Given the description of an element on the screen output the (x, y) to click on. 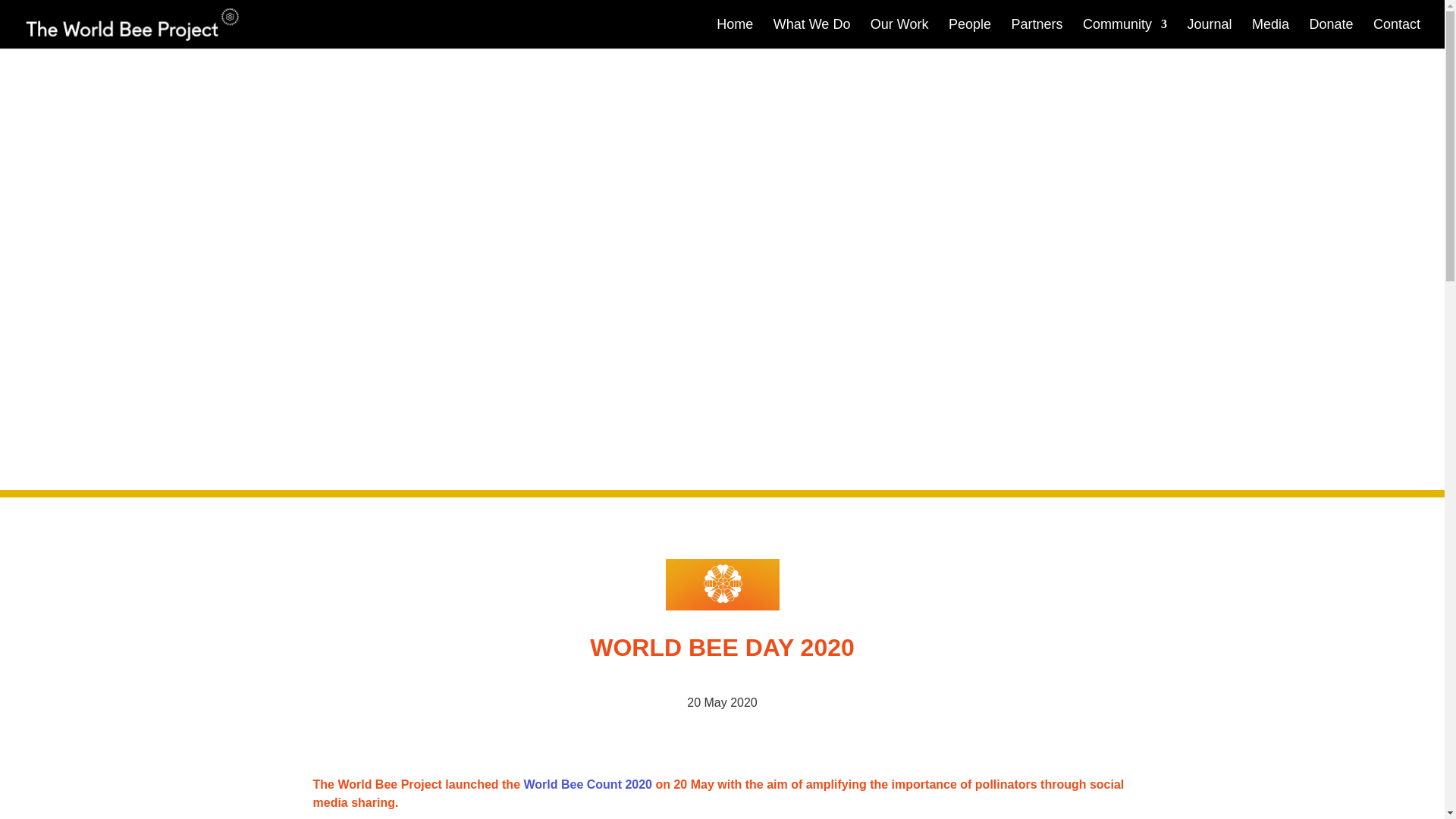
World Bee Count (588, 784)
What We Do (811, 33)
Partners (1036, 33)
People (970, 33)
Home (734, 33)
Contact (1397, 33)
Journal (1208, 33)
Community (1125, 33)
Our Work (899, 33)
World Bee Count 2020 (588, 784)
